Given the description of an element on the screen output the (x, y) to click on. 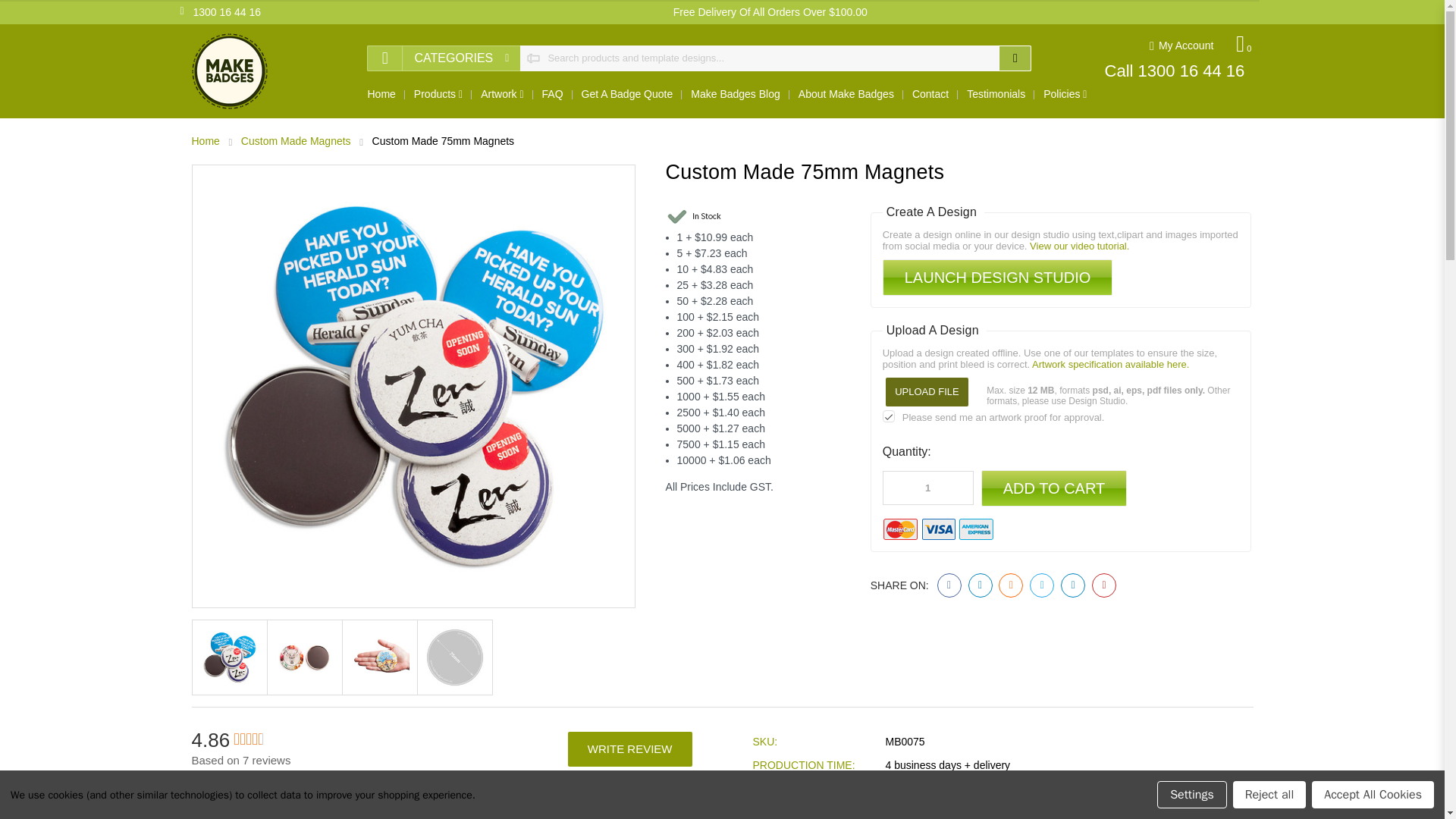
CATEGORIES (442, 58)
75mm Magnet badge (379, 657)
Search (289, 800)
1 (928, 487)
4.86 Stars (247, 740)
Custom Made 75mm Magnets (304, 657)
Launch Design Studio (997, 277)
Make Badges (228, 70)
Search (1014, 58)
Add to Cart (1053, 488)
Custom Made 75mm diameter magnet (454, 657)
1300 16 44 16 (221, 12)
Search (1014, 58)
